Given the description of an element on the screen output the (x, y) to click on. 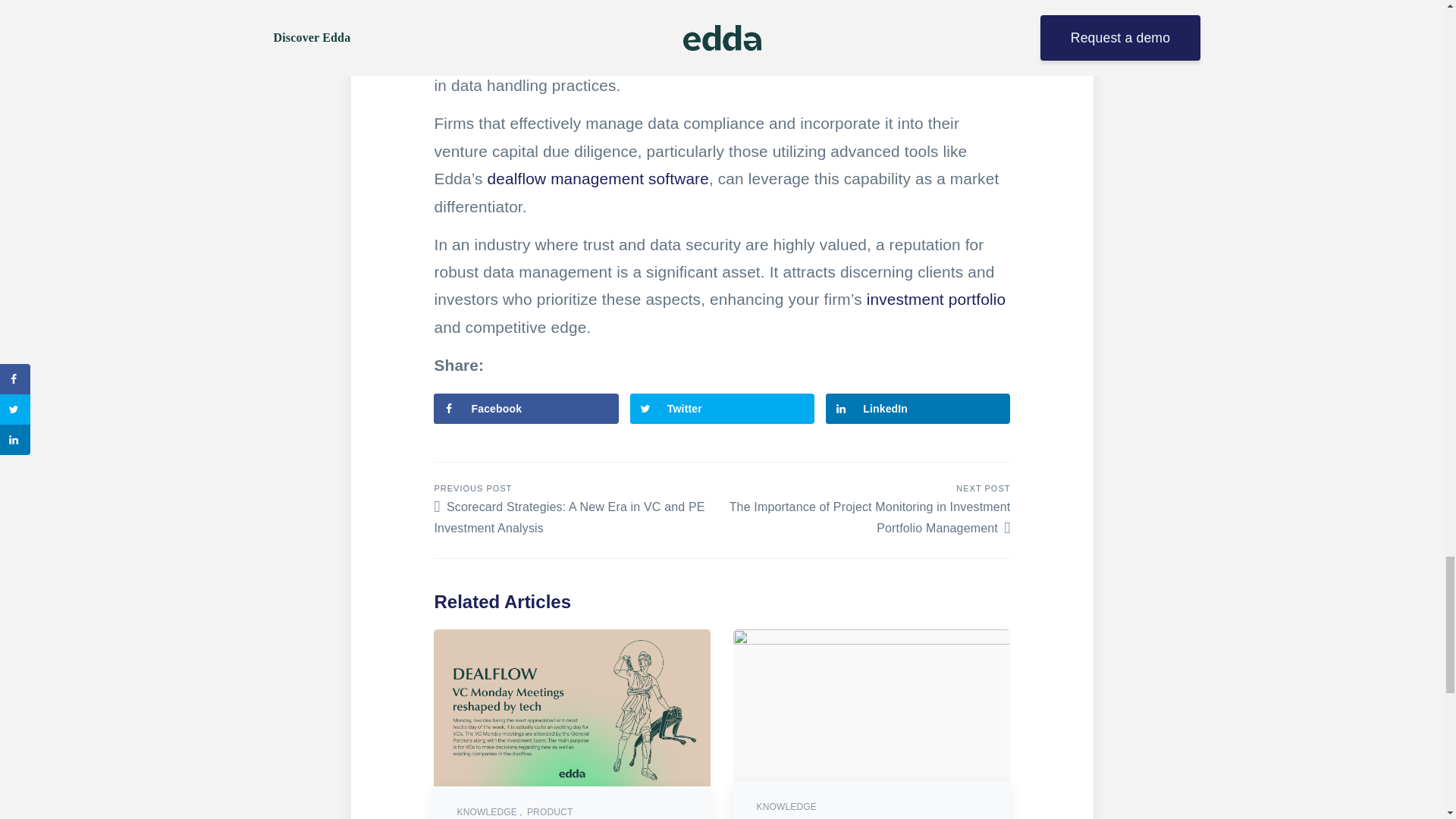
venture capital software (723, 30)
Twitter (721, 408)
investment portfolio (936, 298)
Share on Facebook (525, 408)
dealflow management software (598, 178)
KNOWLEDGE (785, 806)
Facebook (525, 408)
Share on LinkedIn (917, 408)
KNOWLEDGE (490, 811)
PRODUCT (549, 811)
LinkedIn (917, 408)
Share on Twitter (721, 408)
VC Monday Meetings reshaped by tech (571, 707)
